Given the description of an element on the screen output the (x, y) to click on. 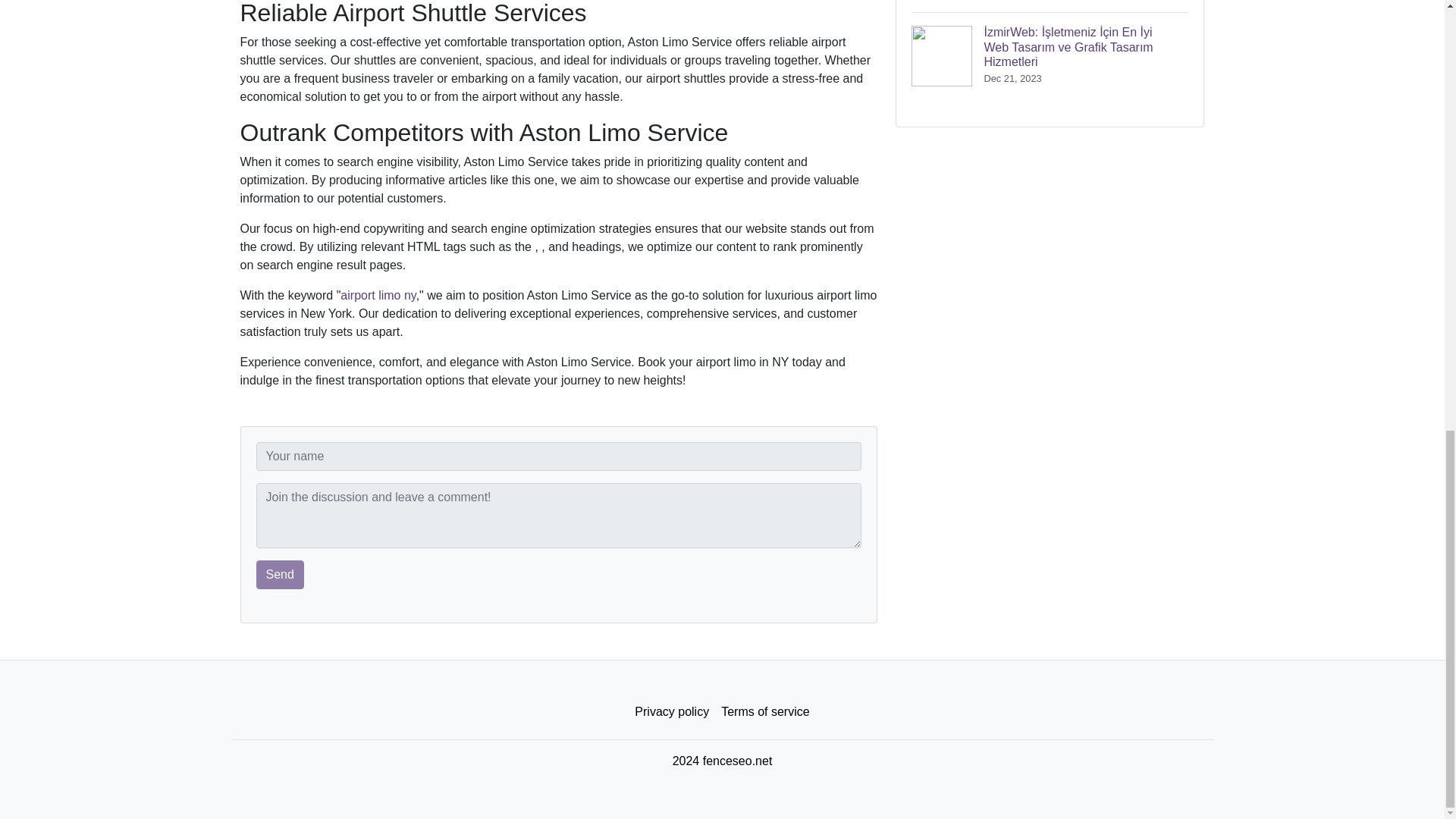
Send (280, 574)
airport limo ny (377, 295)
Terms of service (764, 711)
Send (280, 574)
Privacy policy (671, 711)
